Given the description of an element on the screen output the (x, y) to click on. 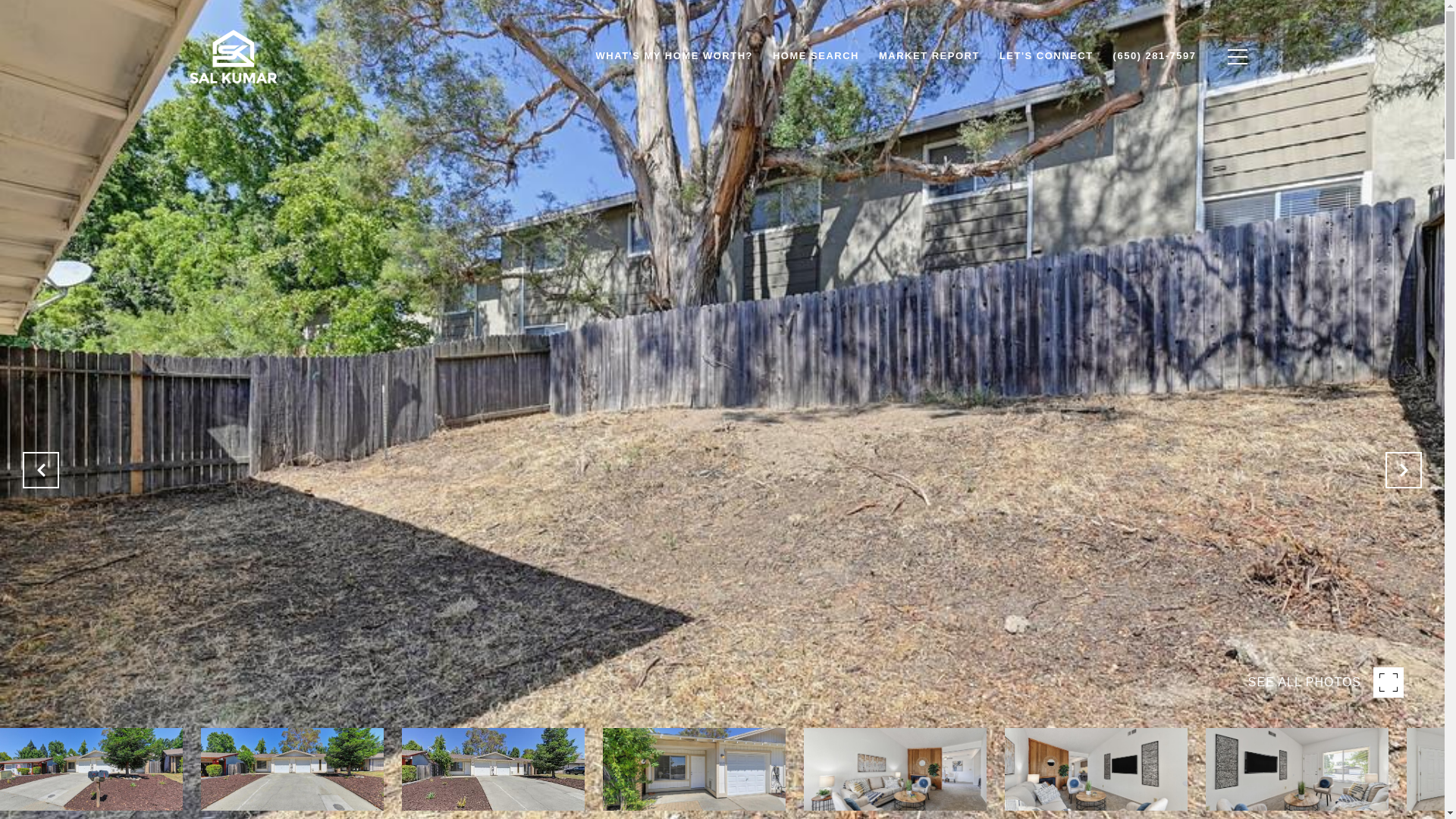
WHAT'S MY HOME WORTH? (674, 55)
HOME SEARCH (815, 55)
LET'S CONNECT (1046, 55)
MARKET REPORT (929, 55)
